Given the description of an element on the screen output the (x, y) to click on. 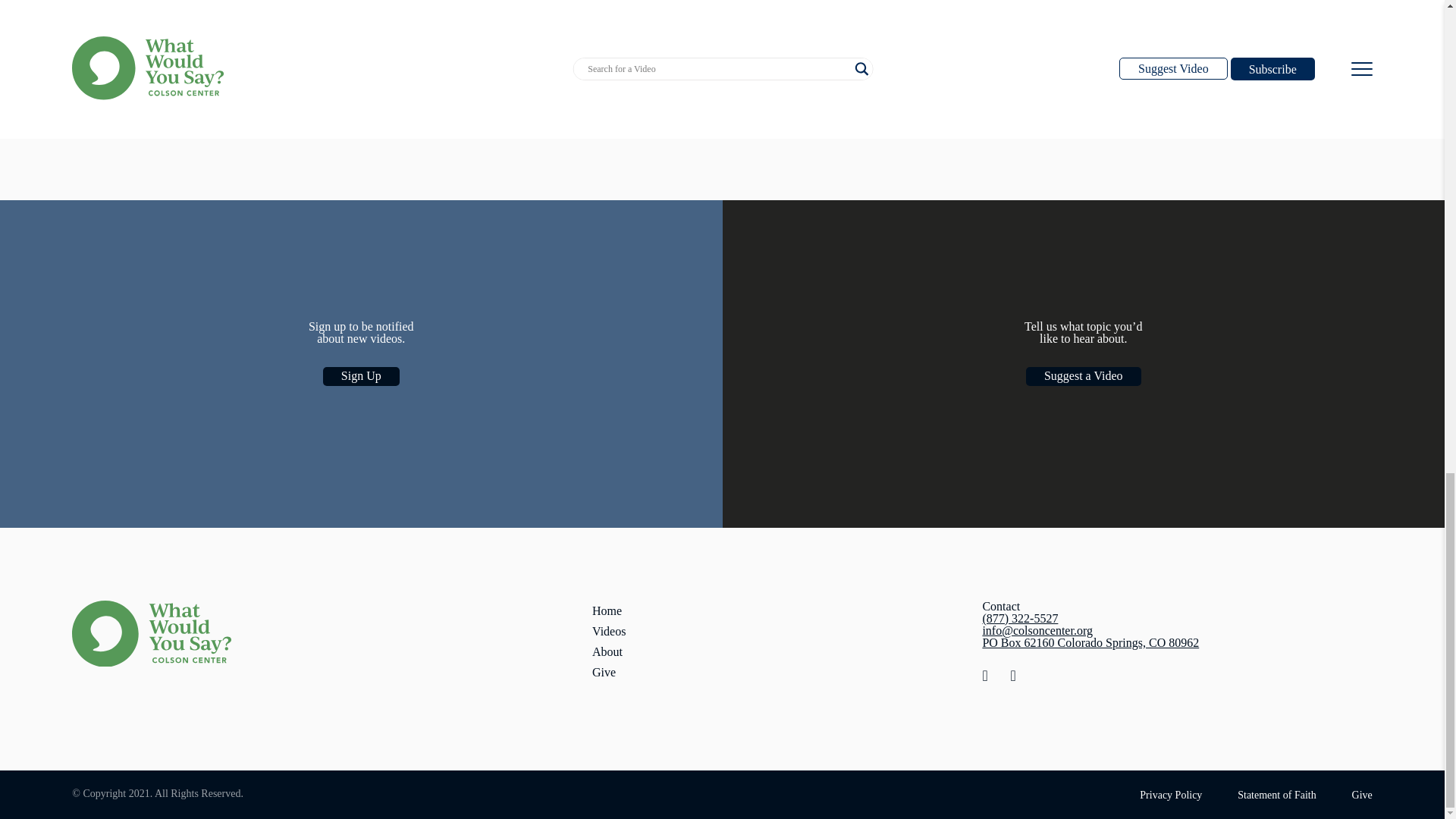
Home (606, 610)
Suggest a Video (1083, 376)
Videos (609, 631)
Sign Up (360, 376)
About (607, 651)
